Given the description of an element on the screen output the (x, y) to click on. 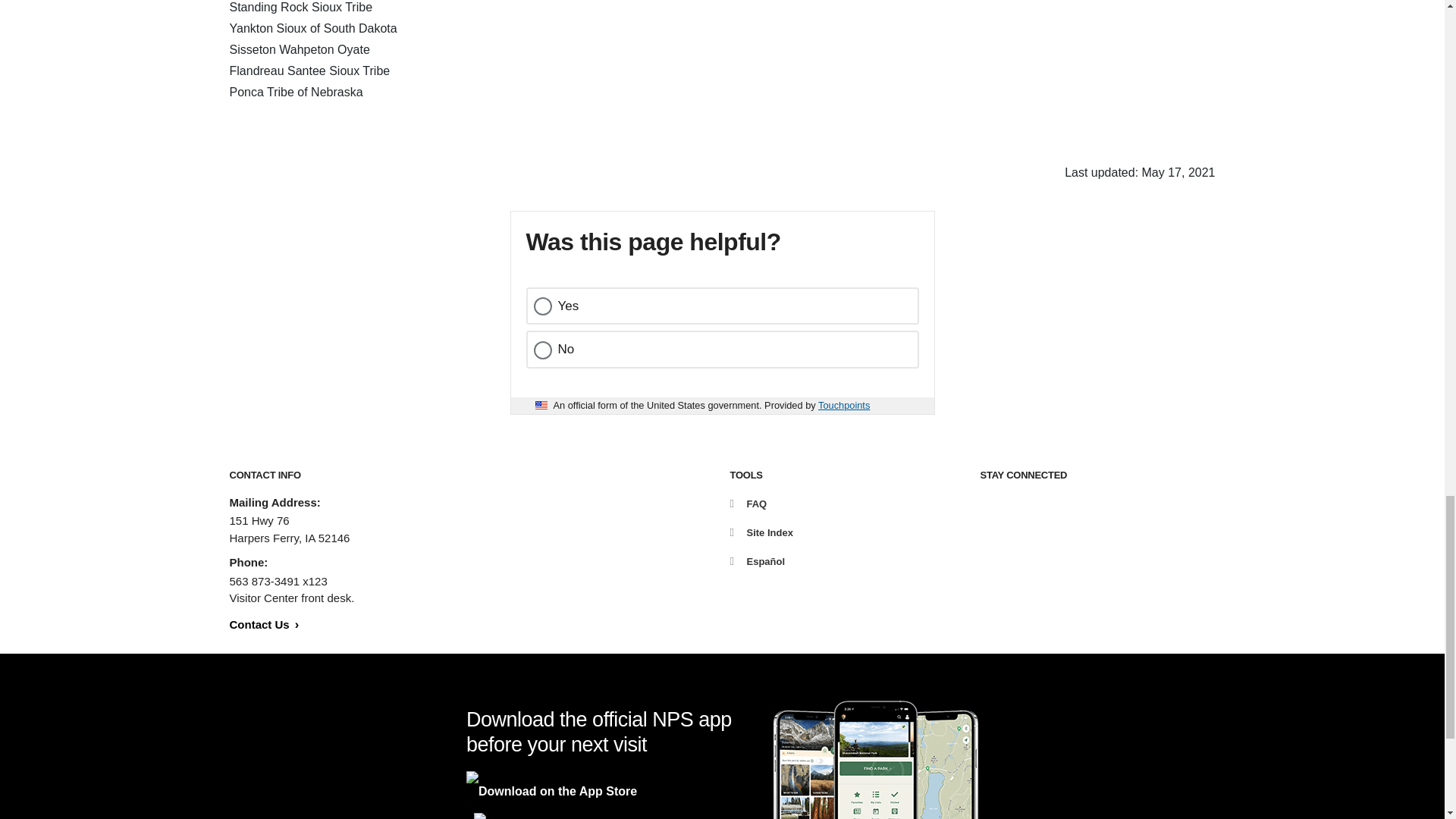
Contact Us (263, 623)
Touchpoints (843, 405)
FAQ (748, 503)
Site Index (760, 532)
